Given the description of an element on the screen output the (x, y) to click on. 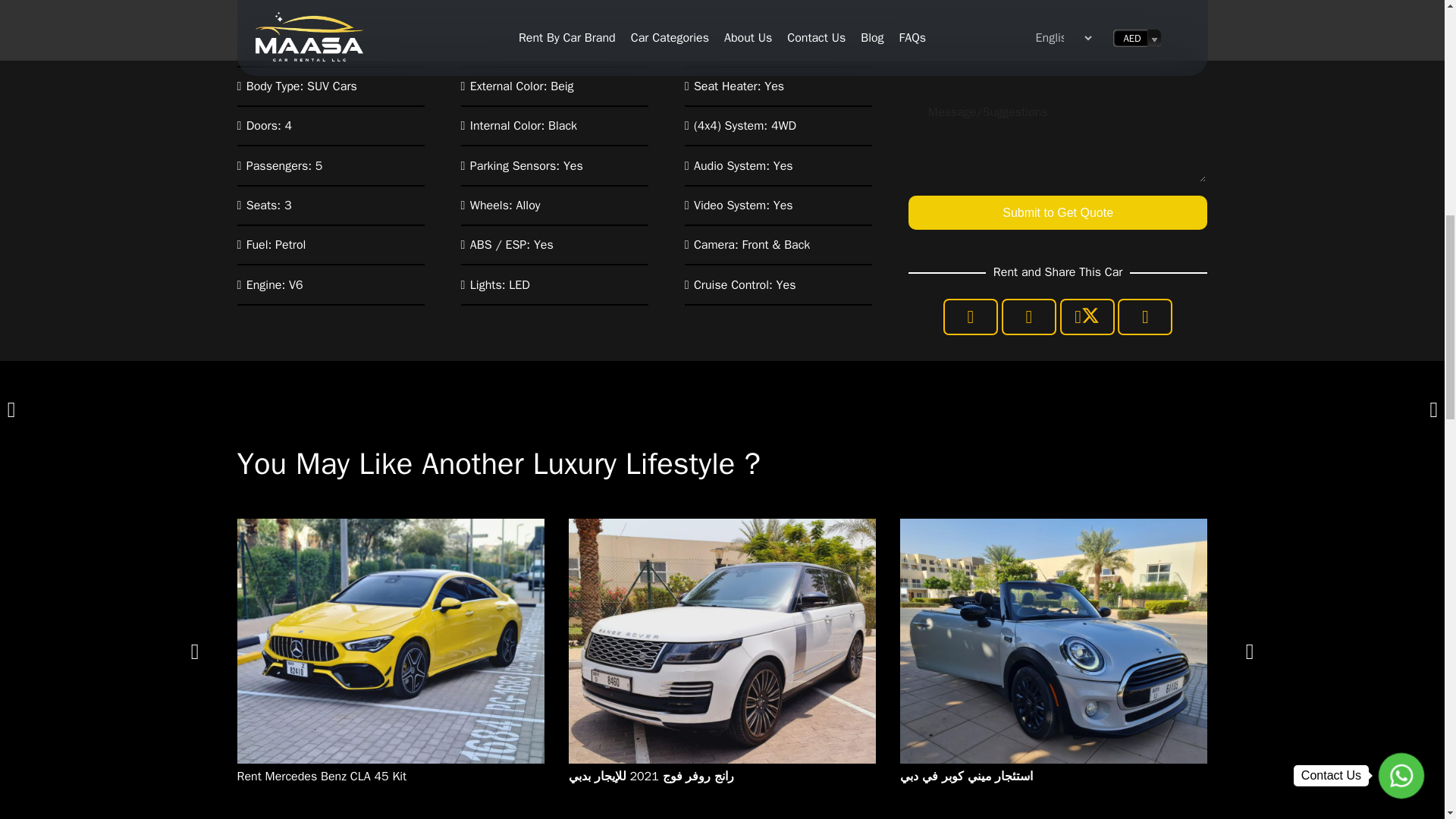
Tweet this (1087, 316)
Email this (970, 316)
Share this (1029, 316)
Share this (1145, 316)
Rent Mercedes Benz CLA 45 Kit 1 (389, 640)
